Given the description of an element on the screen output the (x, y) to click on. 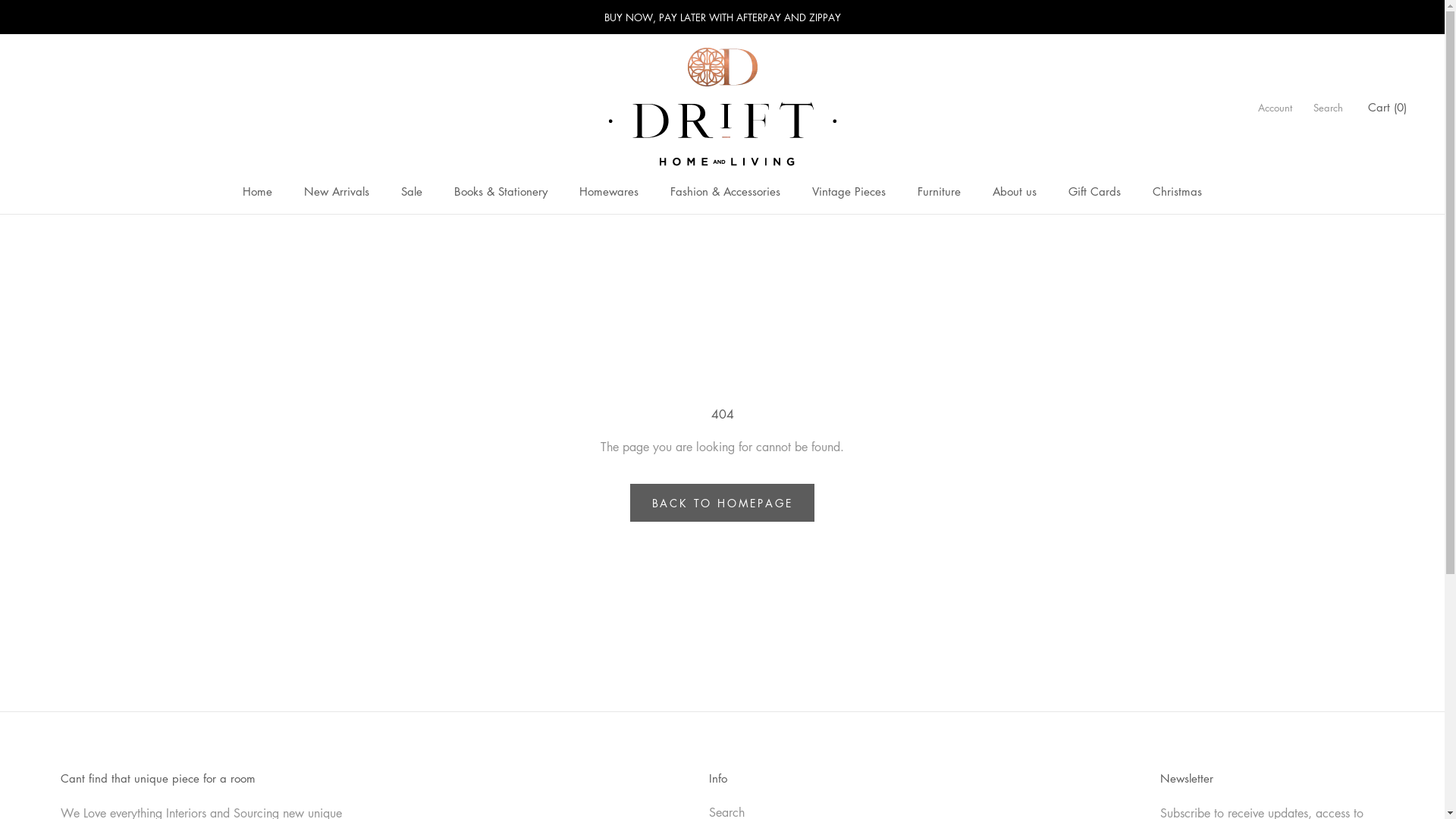
Gift Cards
Gift Cards Element type: text (1094, 190)
Home
Home Element type: text (257, 190)
New Arrivals
New Arrivals Element type: text (336, 190)
Sale
Sale Element type: text (411, 190)
Cart (0) Element type: text (1387, 106)
Books & Stationery
Books & Stationery Element type: text (500, 190)
About us
About us Element type: text (1014, 190)
Vintage Pieces
Vintage Pieces Element type: text (848, 190)
Account Element type: text (1275, 107)
BACK TO HOMEPAGE Element type: text (722, 502)
Furniture Element type: text (938, 190)
Christmas
Christmas Element type: text (1176, 190)
Search Element type: text (1328, 107)
Homewares Element type: text (608, 190)
Fashion & Accessories Element type: text (725, 190)
